Given the description of an element on the screen output the (x, y) to click on. 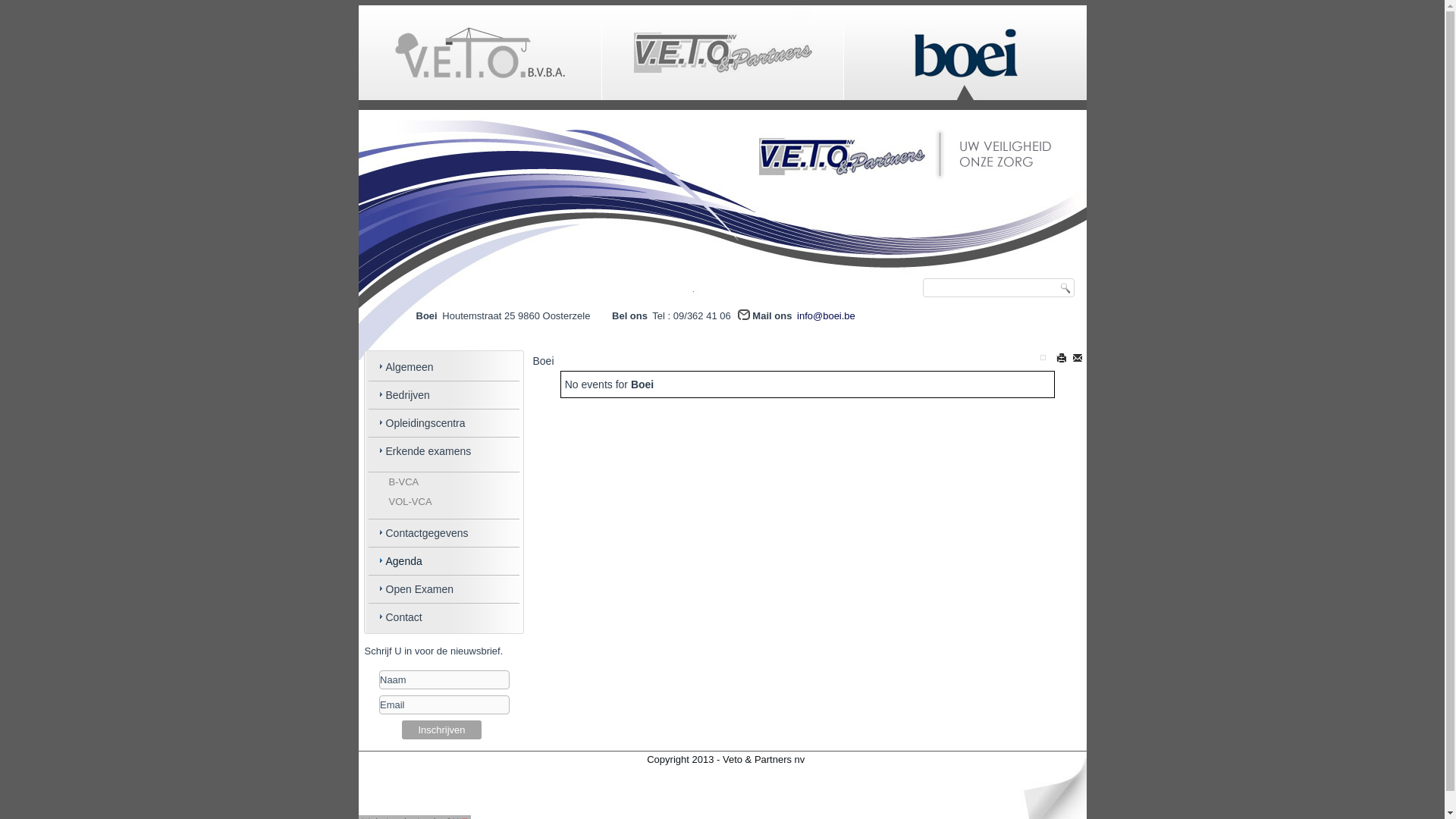
Open Examen Element type: text (443, 589)
Erkende examens Element type: text (443, 451)
VOL-VCA Element type: text (443, 501)
Bedrijven Element type: text (443, 394)
Opleidingscentra Element type: text (443, 423)
B-VCA Element type: text (443, 481)
Agenda Element type: text (443, 561)
Algemeen Element type: text (443, 366)
EMAIL Element type: hover (1077, 357)
Print Element type: hover (1061, 357)
Contactgegevens Element type: text (443, 532)
Inschrijven Element type: text (440, 729)
Email Element type: hover (444, 704)
Contact Element type: text (443, 617)
info@boei.be Element type: text (826, 315)
Naam Element type: hover (444, 679)
